Given the description of an element on the screen output the (x, y) to click on. 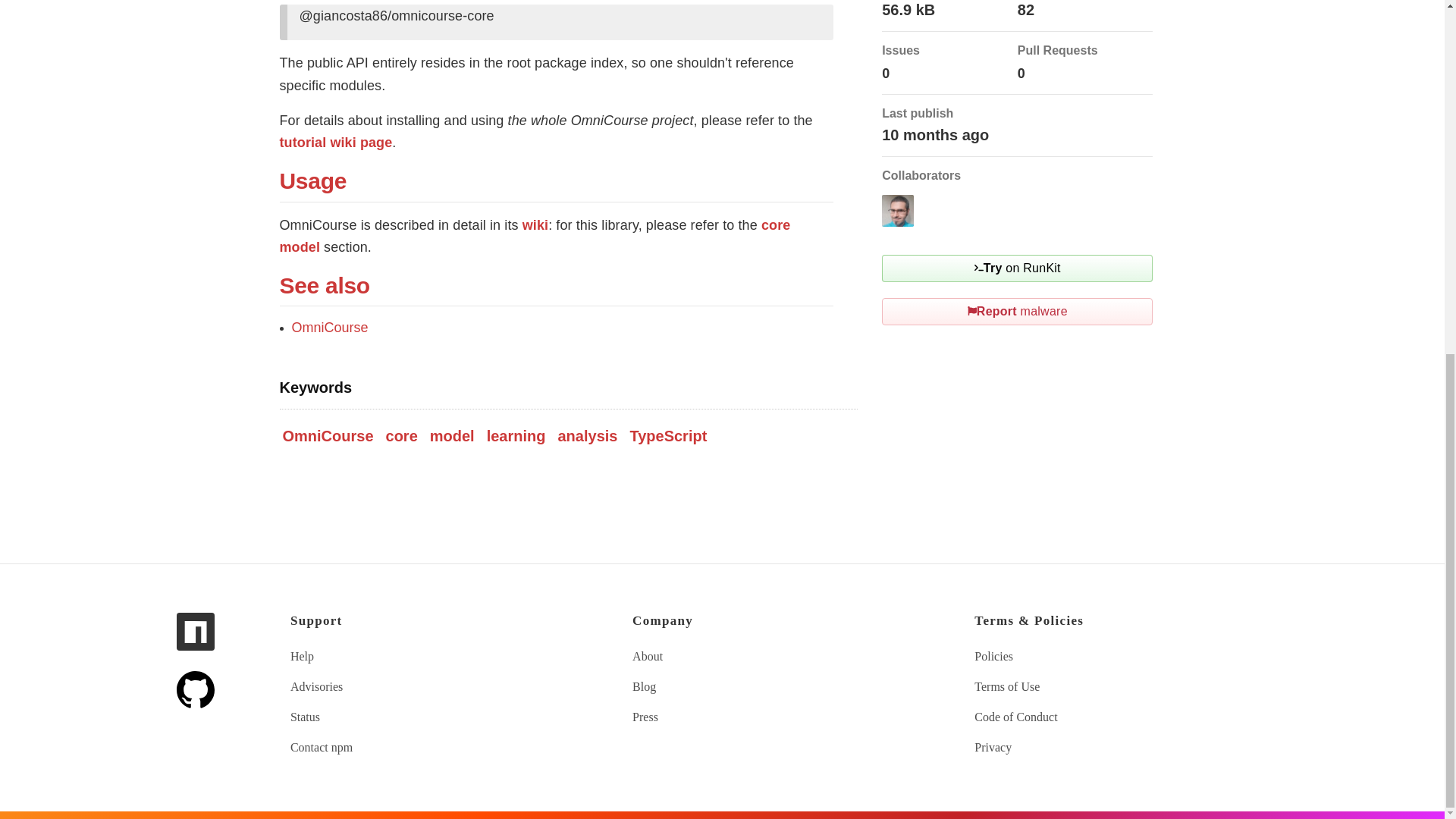
wiki (535, 224)
core model (534, 236)
tutorial wiki page (335, 142)
core (401, 436)
See also (331, 285)
0 (885, 73)
TypeScript (667, 436)
giancosta86 (898, 210)
learning (516, 436)
Usage (320, 180)
model (451, 436)
OmniCourse (329, 327)
OmniCourse (327, 436)
analysis (587, 436)
0 (1021, 73)
